Given the description of an element on the screen output the (x, y) to click on. 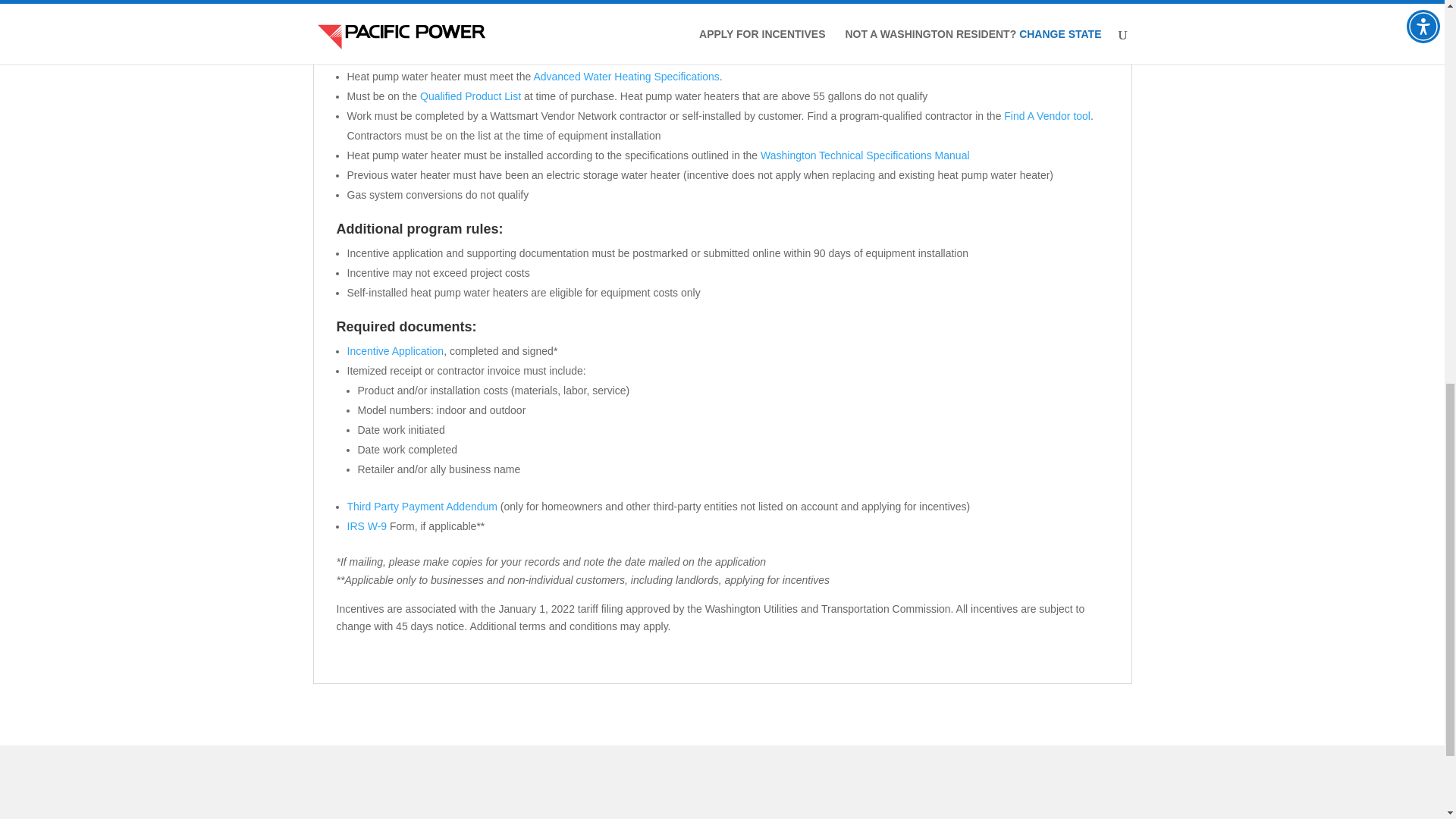
Qualified Product List (470, 96)
IRS W-9 (367, 526)
Washington Technical Specifications Manual (864, 155)
Find A Vendor tool (1047, 115)
Third Party Payment Addendum (422, 506)
Incentive Application (395, 350)
Advanced Water Heating Specifications (625, 76)
